Given the description of an element on the screen output the (x, y) to click on. 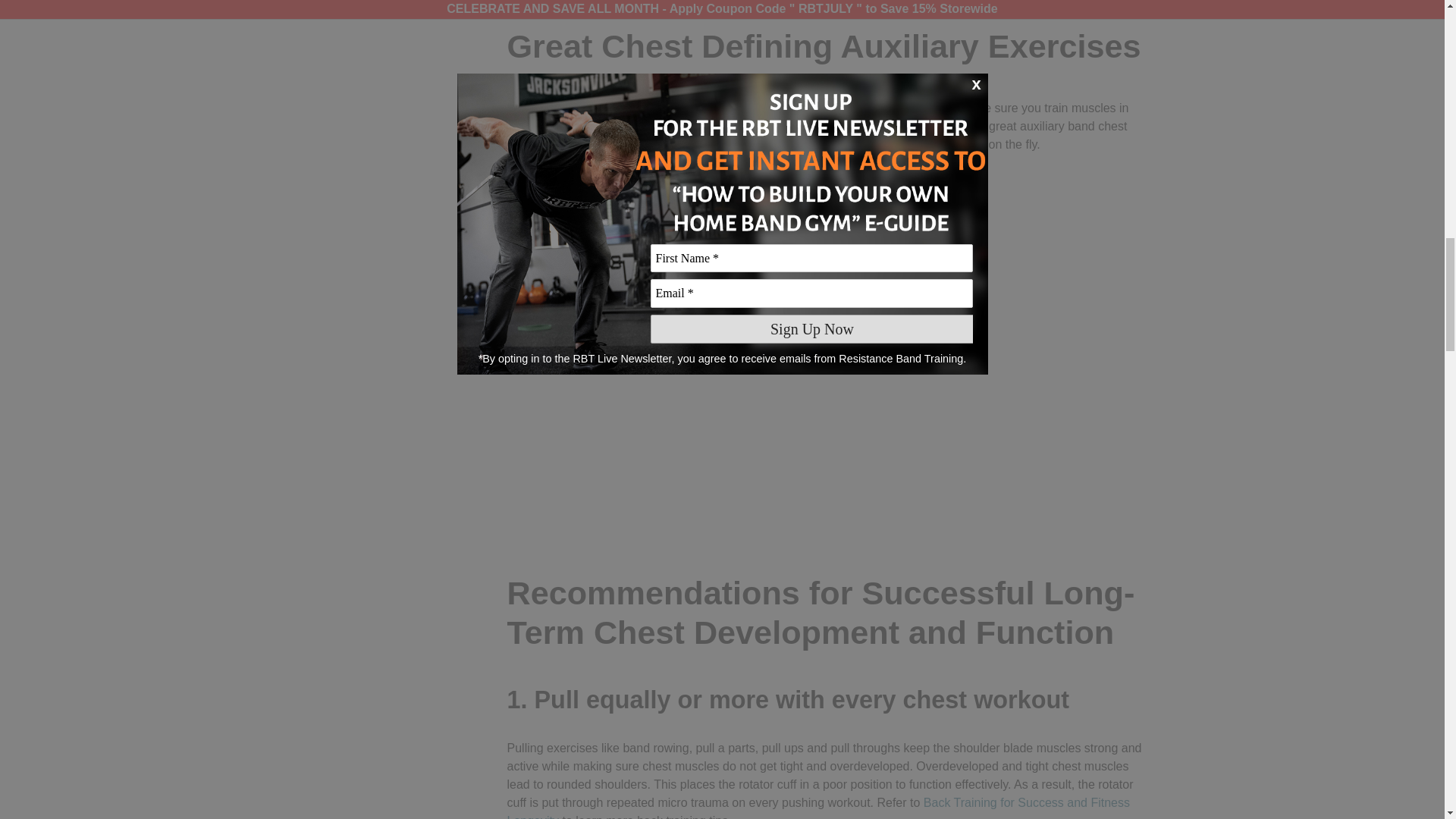
Back Training for Success and Fitness Longevity (817, 807)
